Given the description of an element on the screen output the (x, y) to click on. 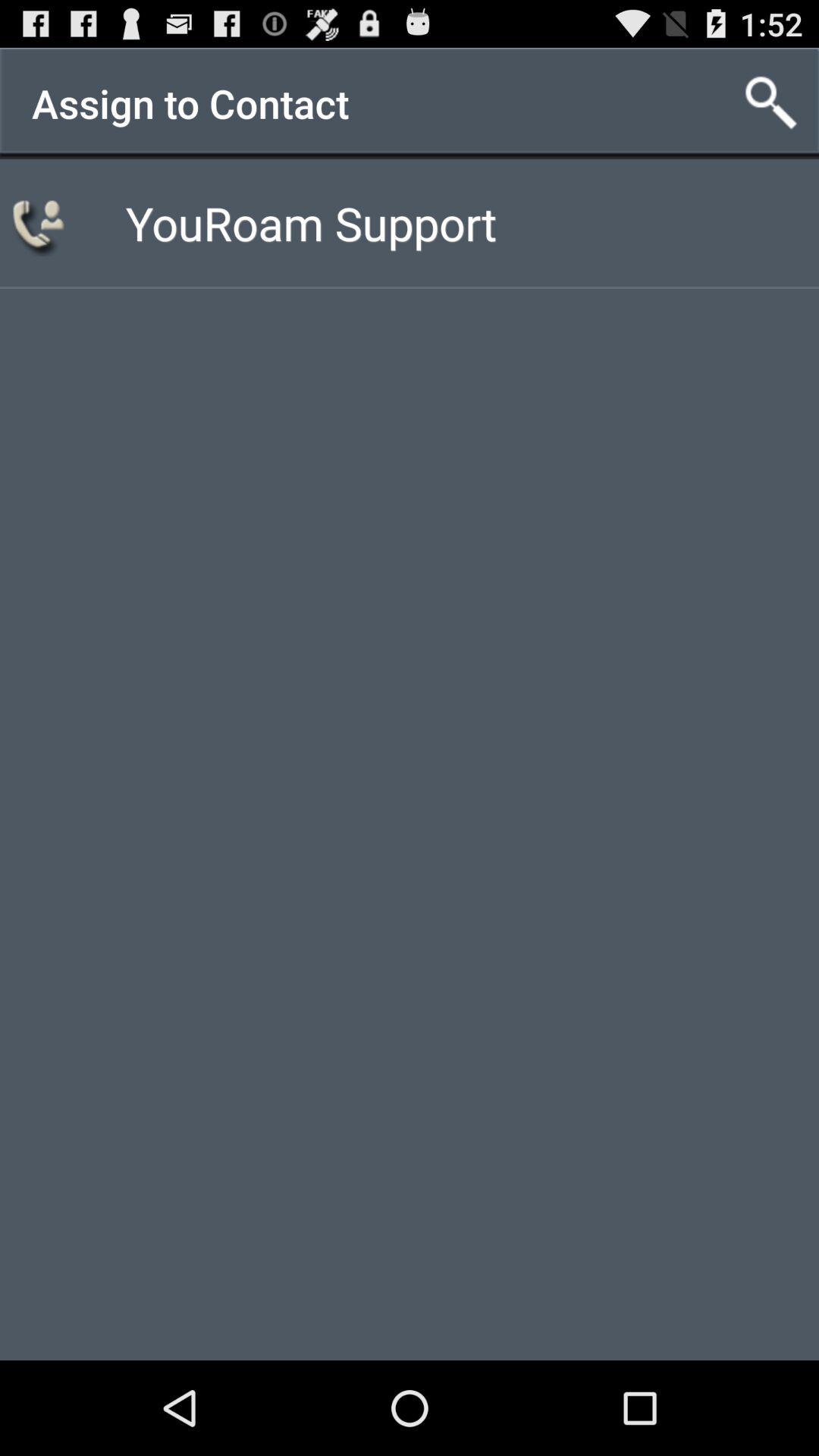
choose the item next to assign to contact (771, 103)
